Given the description of an element on the screen output the (x, y) to click on. 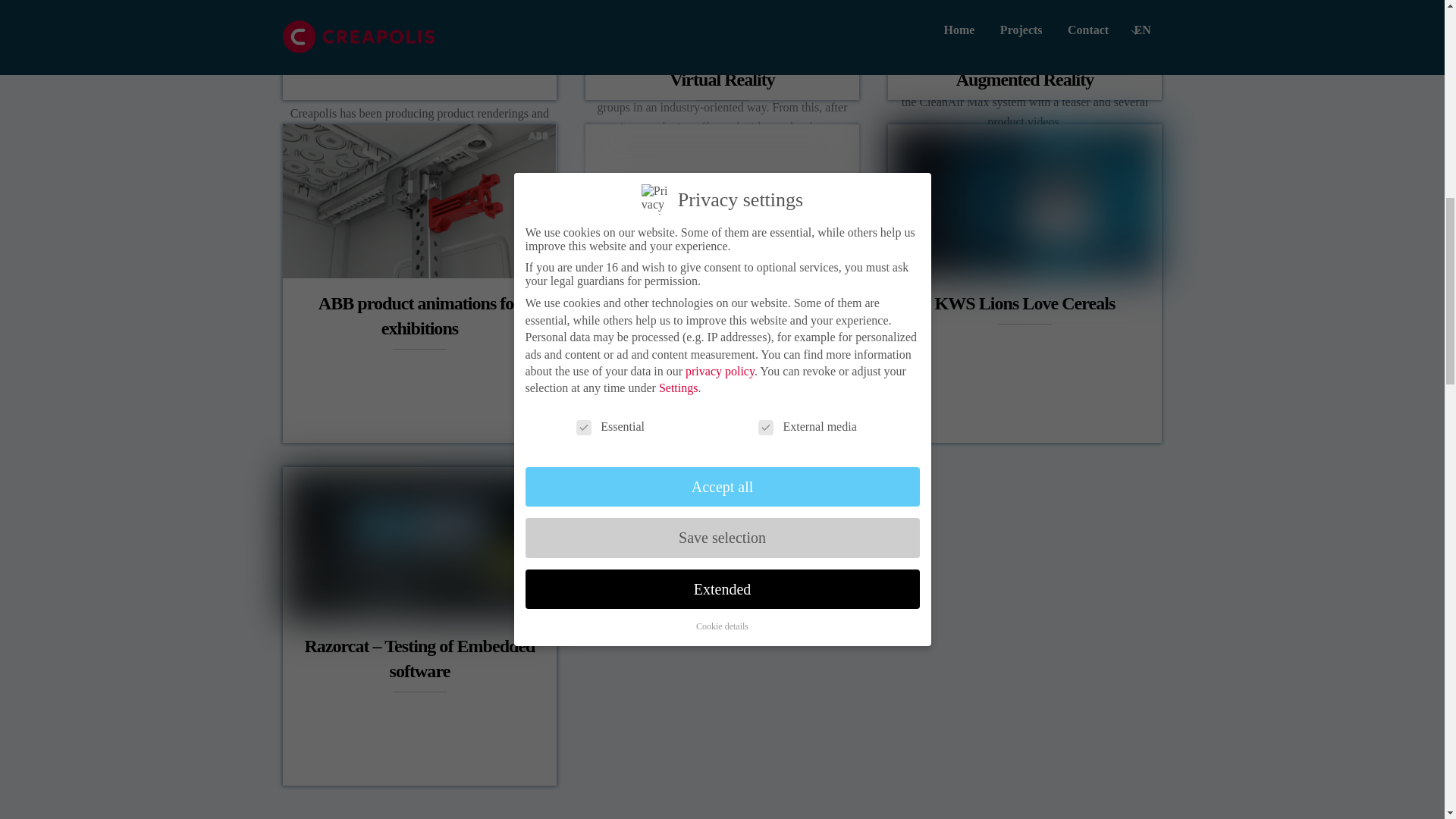
Augmented Reality (1024, 27)
Virtual Reality (722, 27)
ABB product animations for exhibitions (419, 201)
BASF Empowering the Electric Distribution Network (722, 201)
KWS Lions Love Cereals (1024, 201)
